Given the description of an element on the screen output the (x, y) to click on. 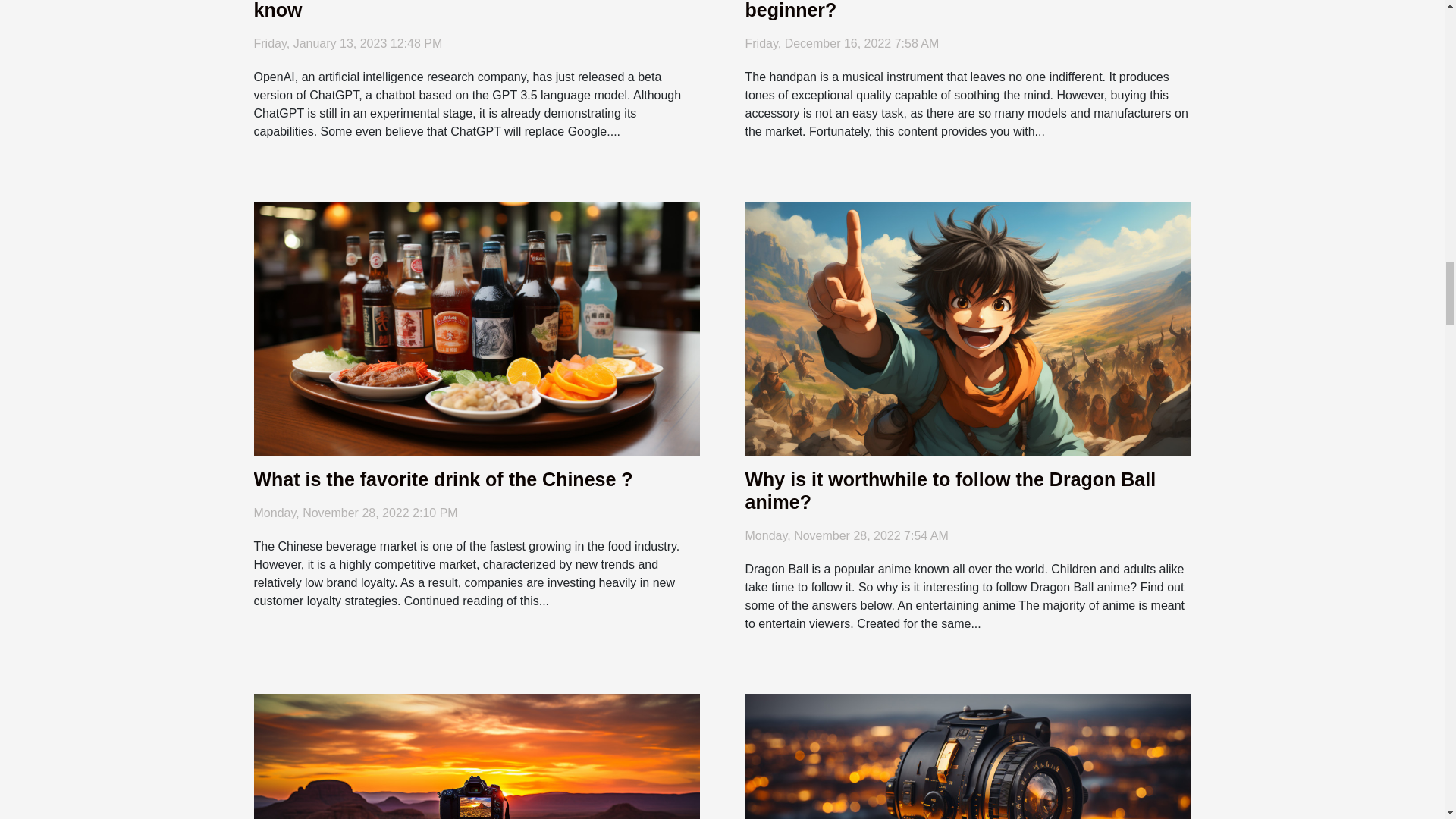
How to make the best choice of handpan as a beginner? (949, 9)
Artificial intelligence: chatGPT, what you need to know (472, 9)
What is the favorite drink of the Chinese ? (442, 478)
